Given the description of an element on the screen output the (x, y) to click on. 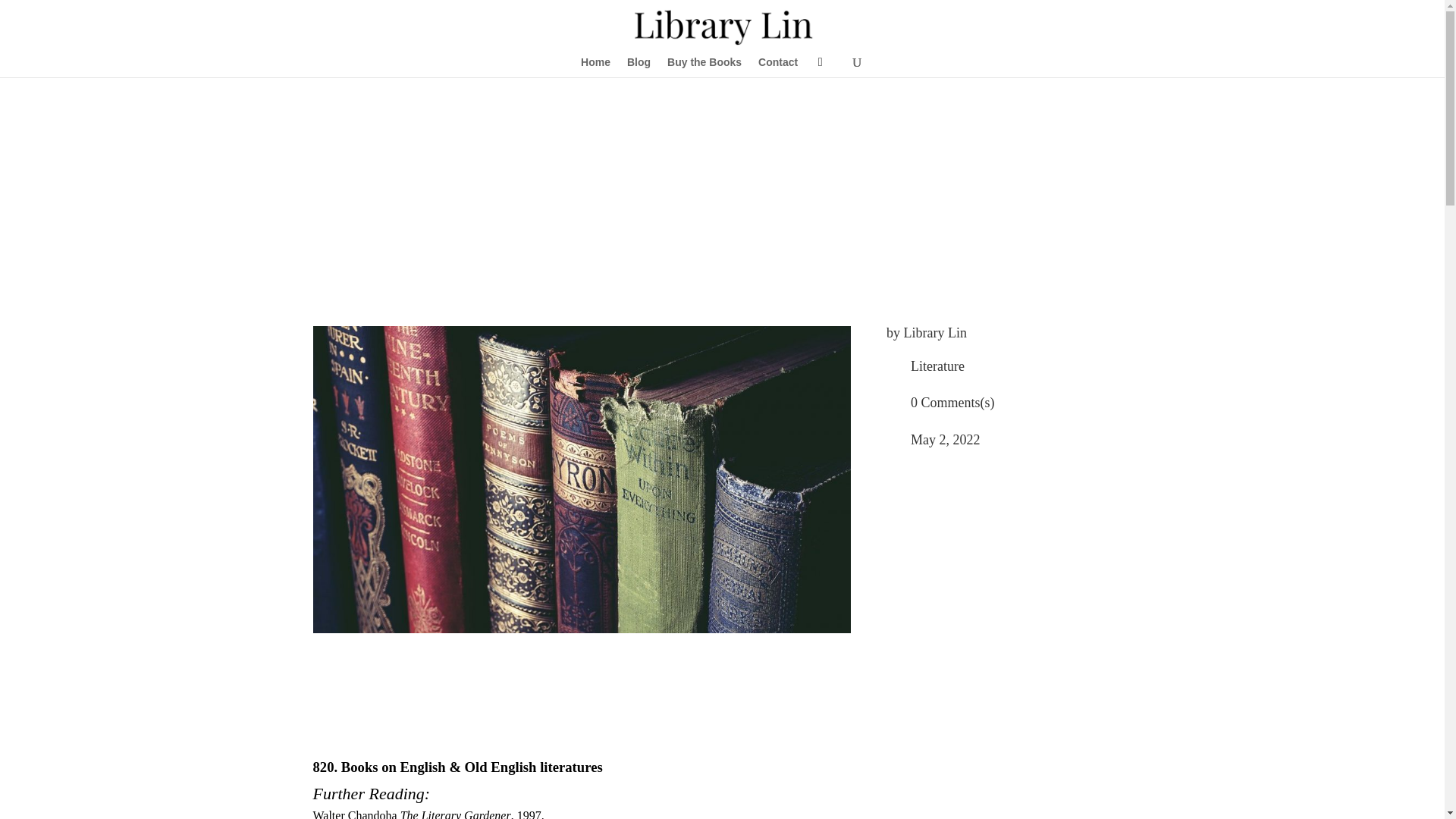
Literature (937, 365)
Contact (777, 66)
Blog (638, 66)
Library Lin (935, 332)
Buy the Books (703, 66)
Home (595, 66)
